Given the description of an element on the screen output the (x, y) to click on. 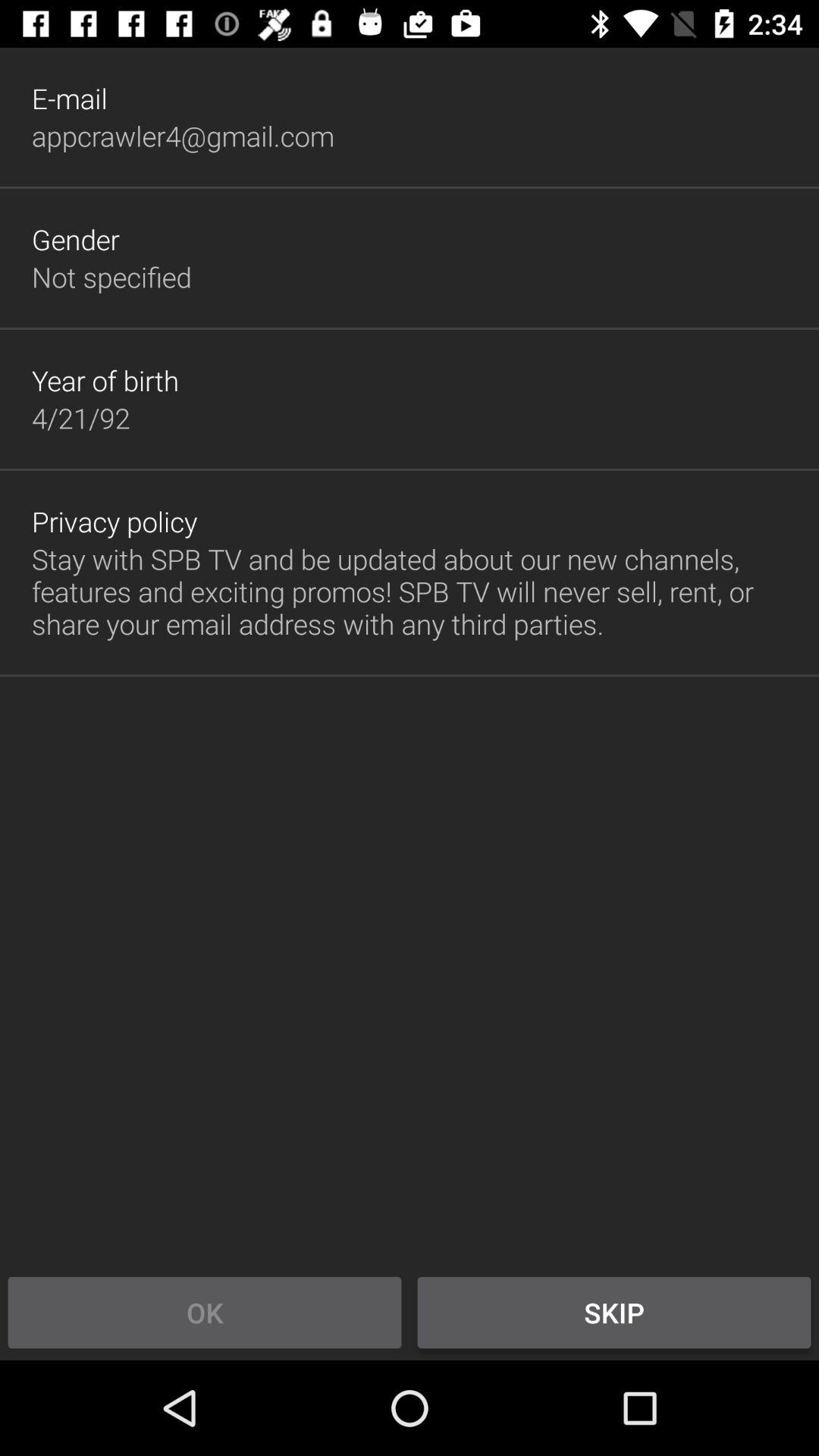
turn off button to the right of ok button (614, 1312)
